Given the description of an element on the screen output the (x, y) to click on. 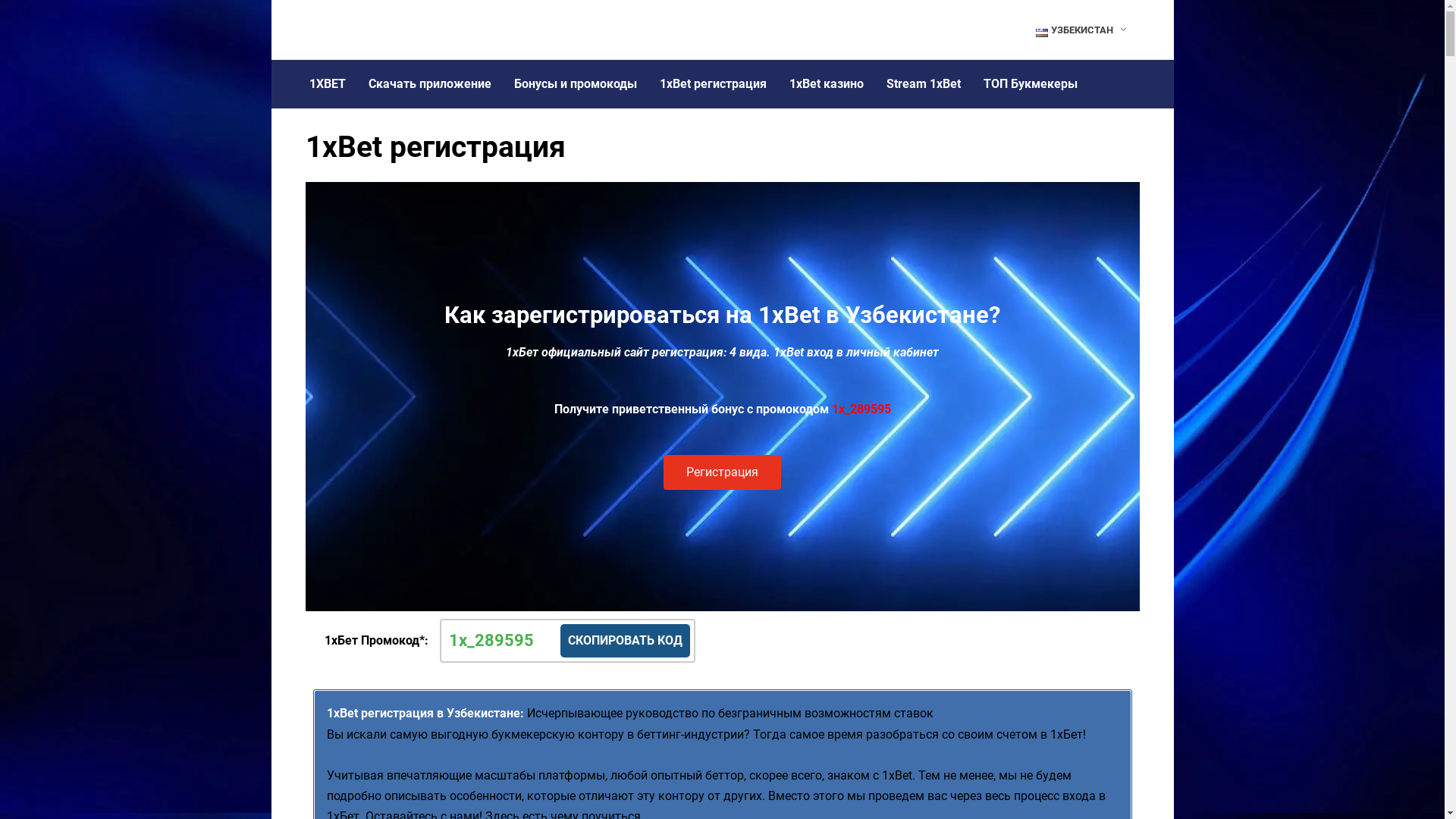
Stream 1xBet Element type: text (923, 83)
1XBET Element type: text (326, 83)
